Given the description of an element on the screen output the (x, y) to click on. 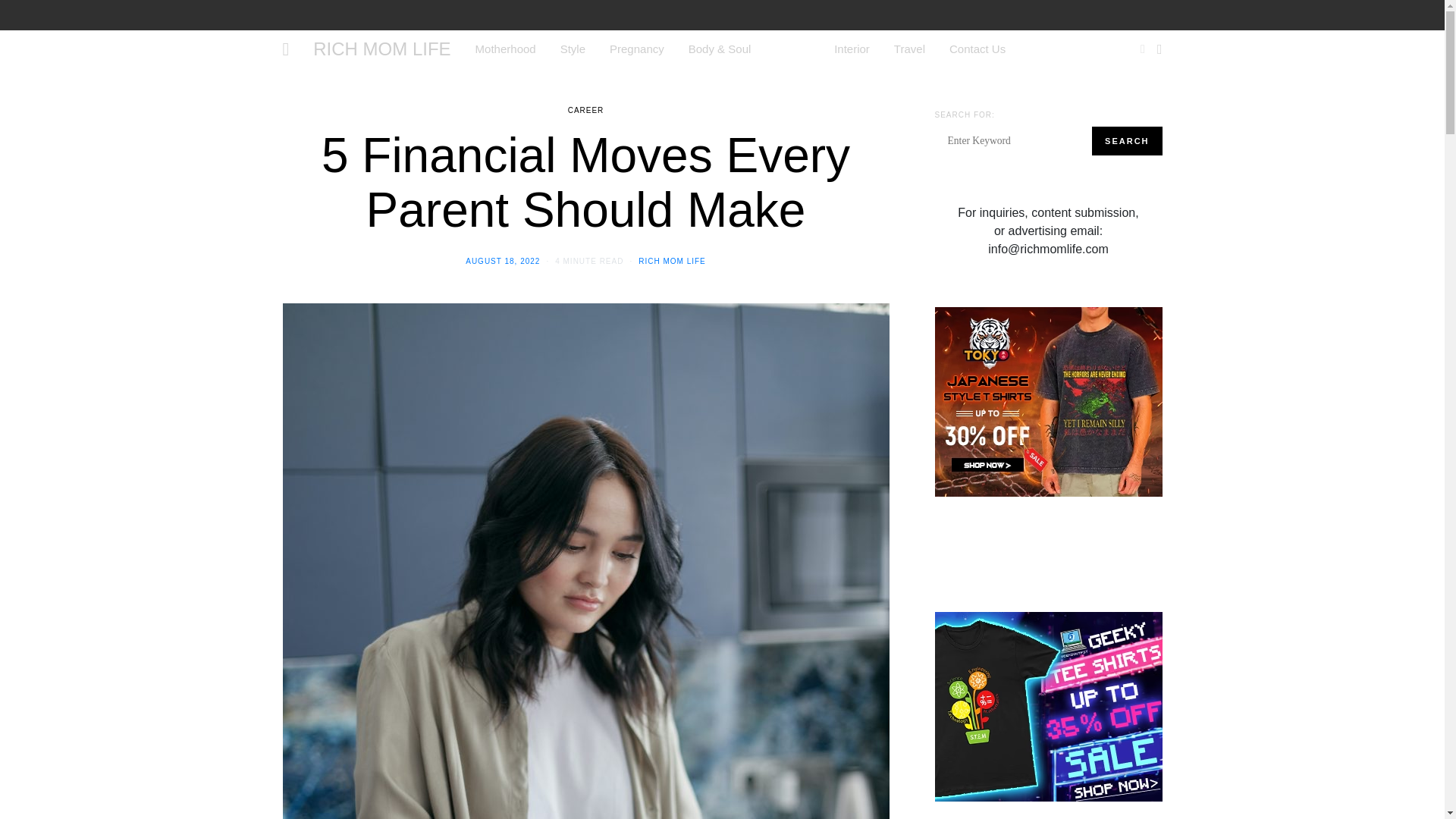
Motherhood (505, 48)
CAREER (585, 110)
Pregnancy (636, 48)
Contact Us (977, 48)
Japanese t shirts (1047, 400)
RICH MOM LIFE (672, 261)
AUGUST 18, 2022 (502, 261)
Interior (851, 48)
Career (791, 48)
View all posts by Rich Mom Life (672, 261)
geek t shirt (1047, 705)
RICH MOM LIFE (381, 48)
